Given the description of an element on the screen output the (x, y) to click on. 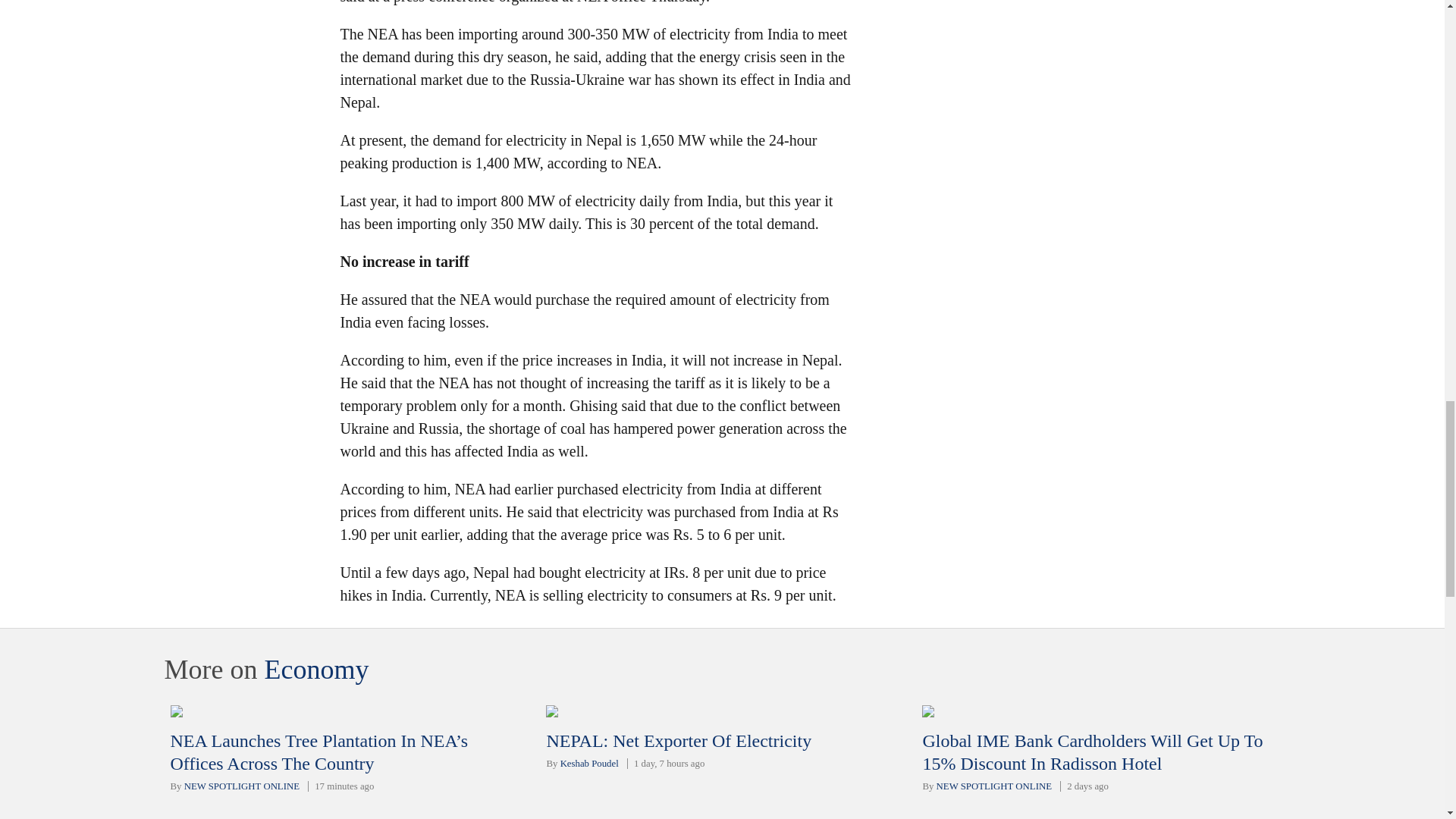
NEW SPOTLIGHT ONLINE (993, 786)
Economy (315, 669)
NEW SPOTLIGHT ONLINE (241, 786)
Keshab Poudel (589, 763)
NEPAL: Net Exporter Of Electricity (678, 741)
